Given the description of an element on the screen output the (x, y) to click on. 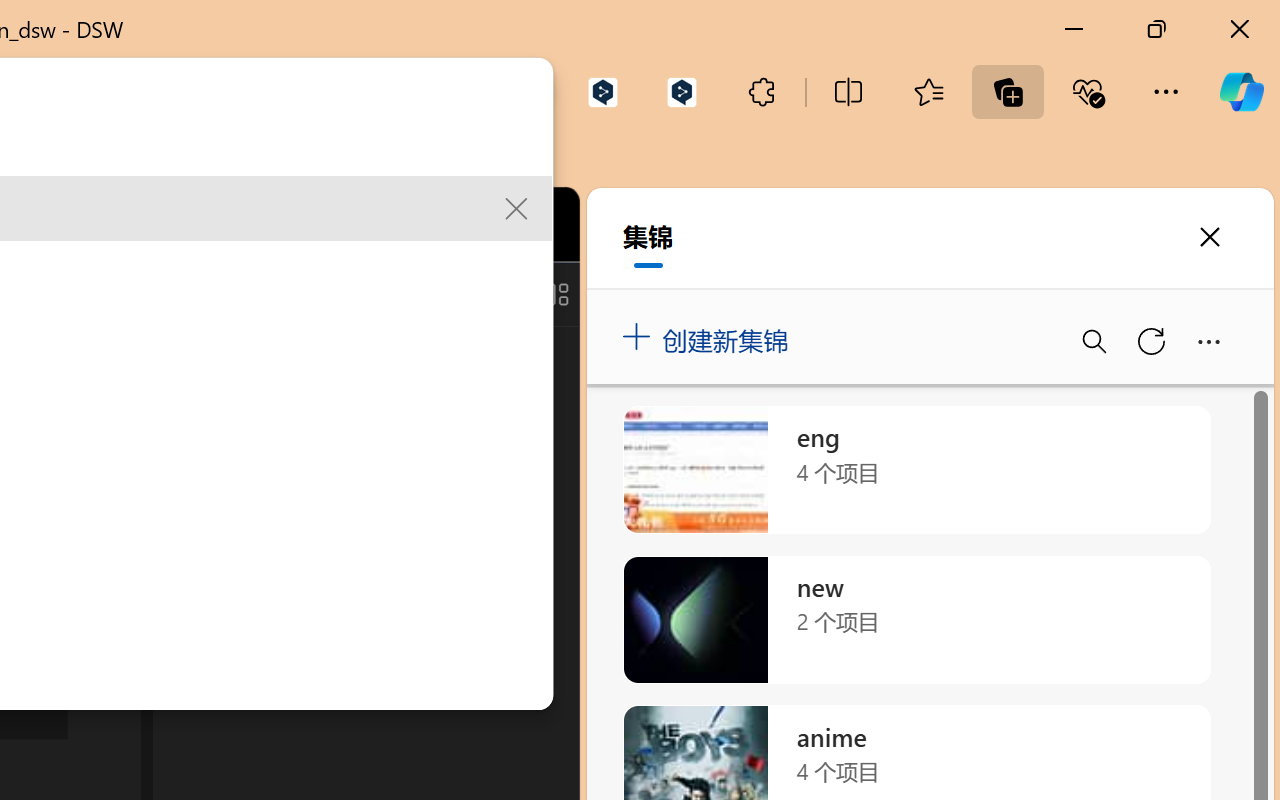
Customize Layout... (553, 294)
Title actions (484, 294)
Class: next-menu next-hoz widgets--iconMenu--BFkiHRM (436, 225)
Toggle Secondary Side Bar (Ctrl+Alt+B) (506, 294)
